Given the description of an element on the screen output the (x, y) to click on. 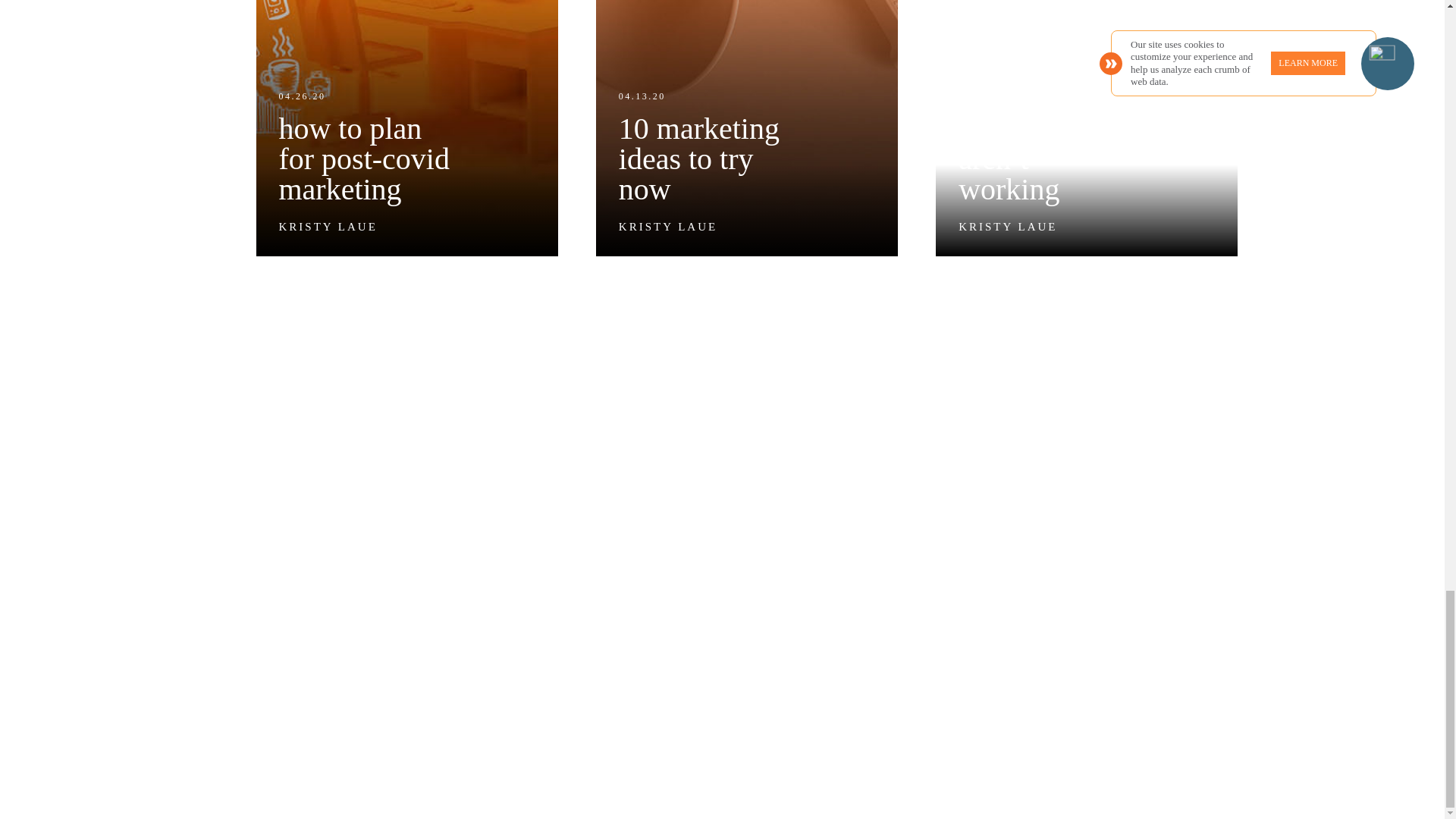
Do the Thing (406, 128)
